Given the description of an element on the screen output the (x, y) to click on. 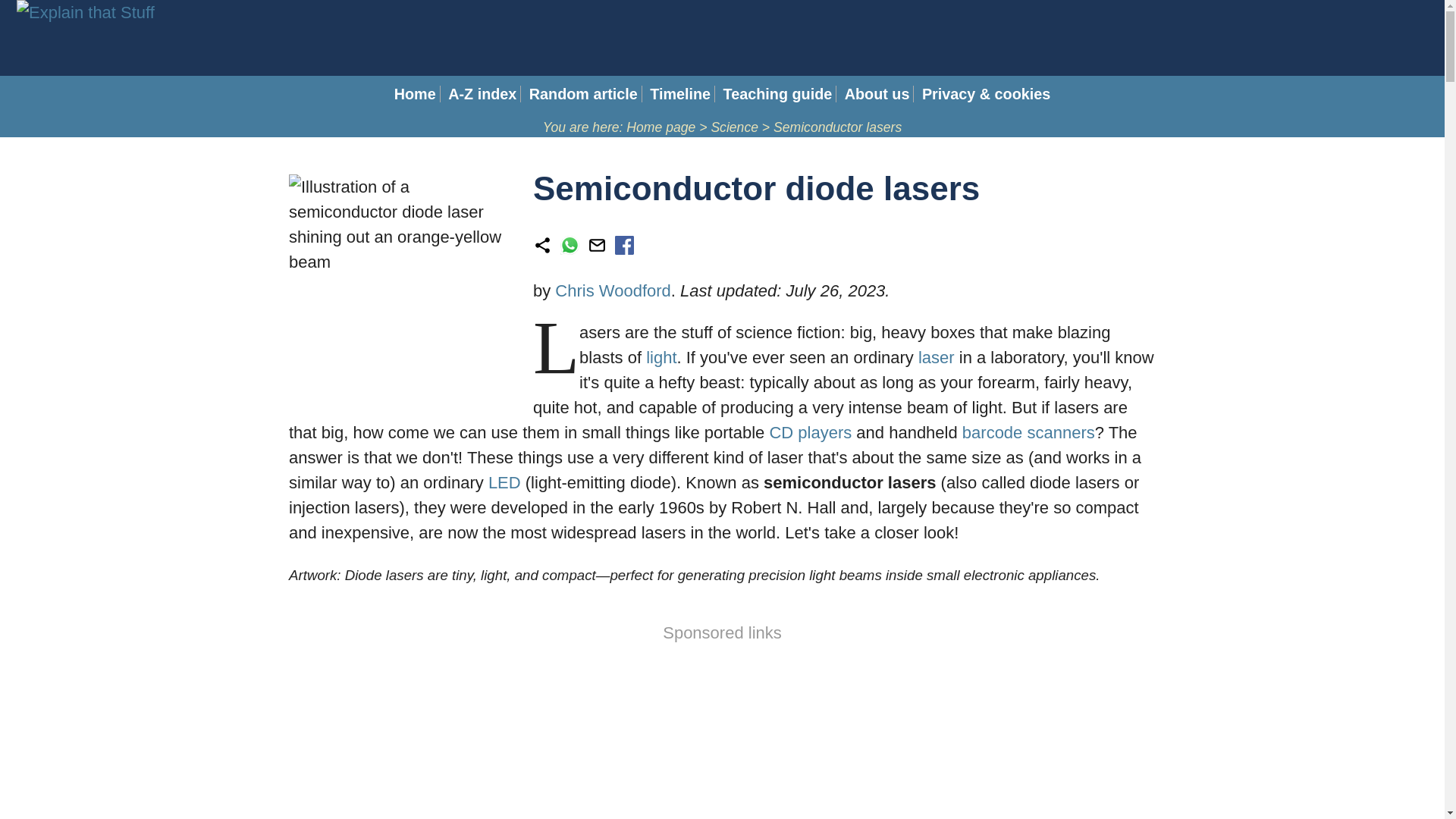
Home page (660, 127)
Random article (583, 93)
light (661, 357)
Share this on WhatsApp (569, 248)
Home (414, 93)
Email this page to a friend (597, 248)
About us (877, 93)
Science (734, 127)
laser (936, 357)
CD players (809, 432)
Teaching guide (777, 93)
Timeline (679, 93)
Share this on Facebook (623, 248)
barcode scanners (1028, 432)
Chris Woodford (611, 290)
